Given the description of an element on the screen output the (x, y) to click on. 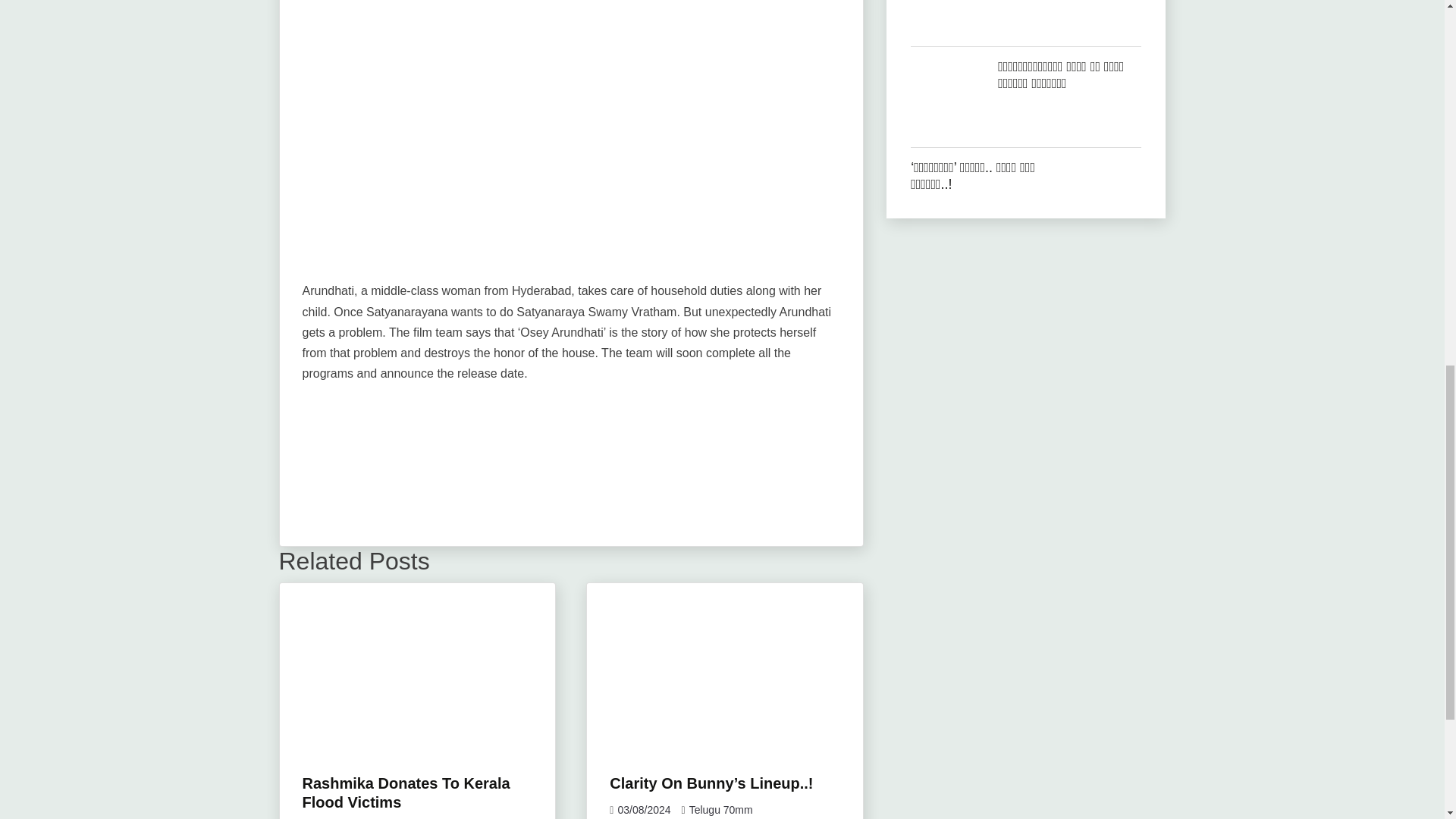
Rashmika Donates To Kerala Flood Victims (405, 792)
Telugu 70mm (720, 809)
